Given the description of an element on the screen output the (x, y) to click on. 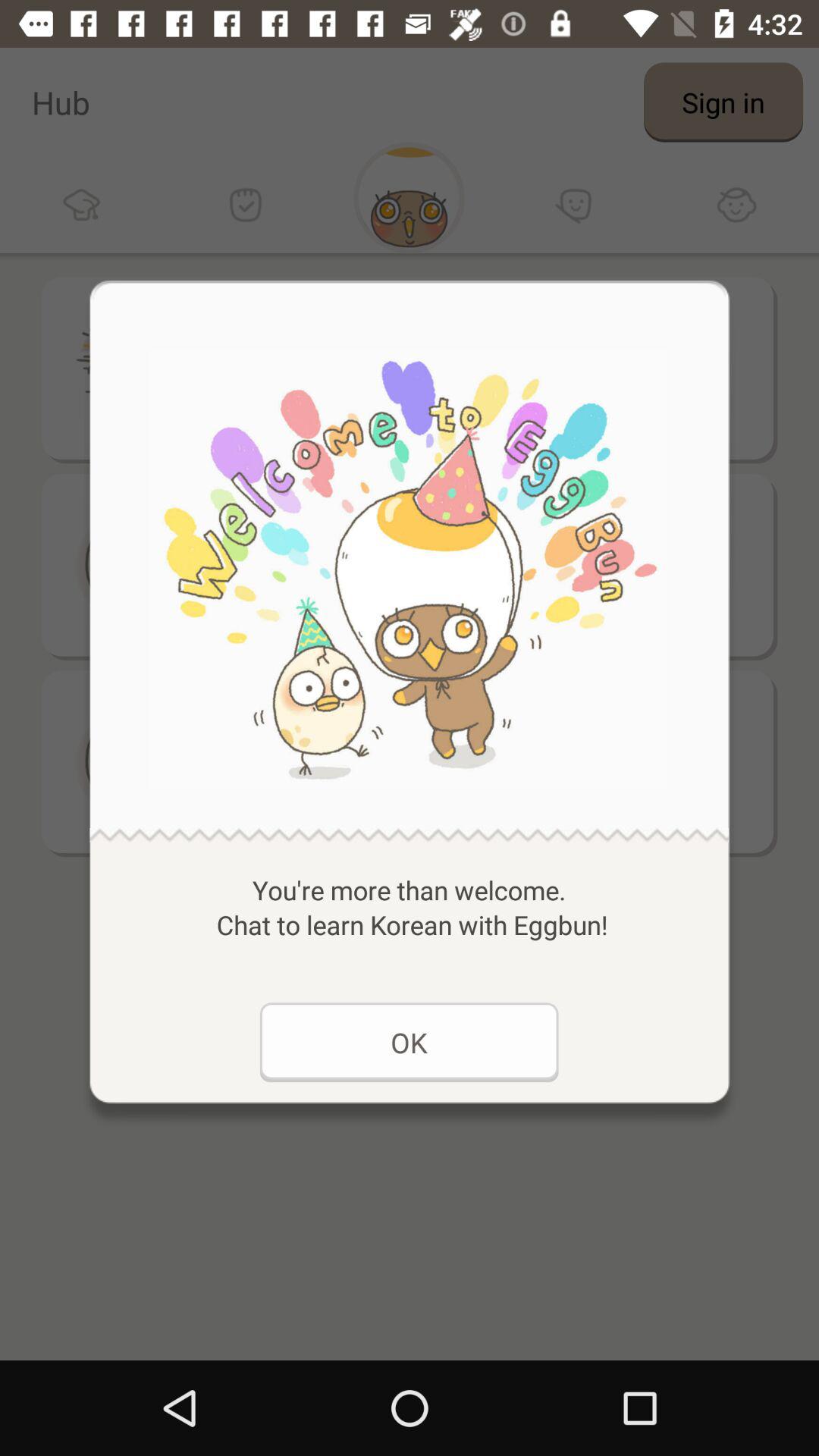
scroll to ok icon (408, 1042)
